Given the description of an element on the screen output the (x, y) to click on. 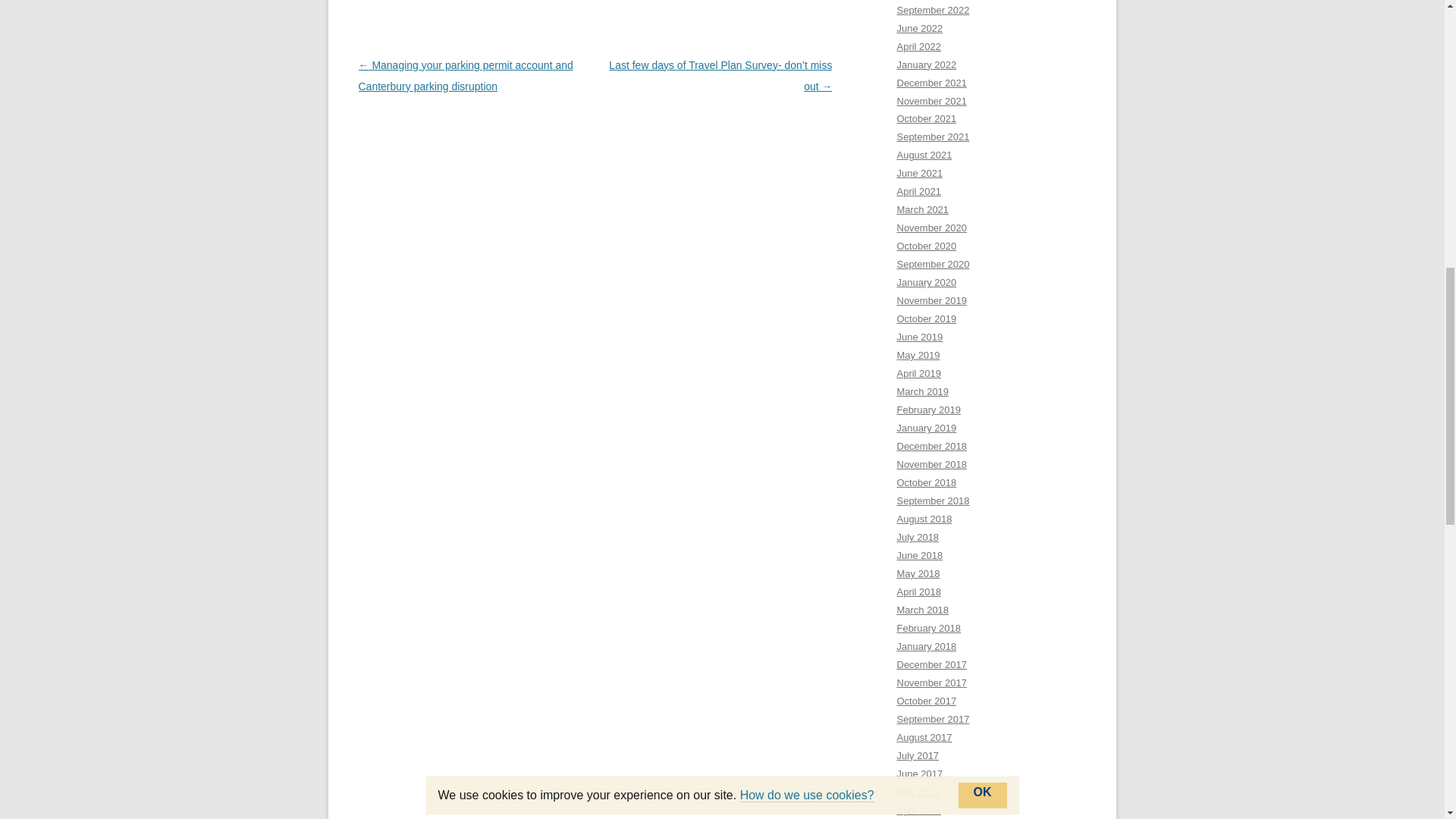
January 2022 (926, 64)
June 2022 (919, 28)
September 2022 (932, 9)
October 2021 (926, 118)
April 2022 (918, 46)
November 2021 (931, 101)
December 2021 (931, 82)
